Given the description of an element on the screen output the (x, y) to click on. 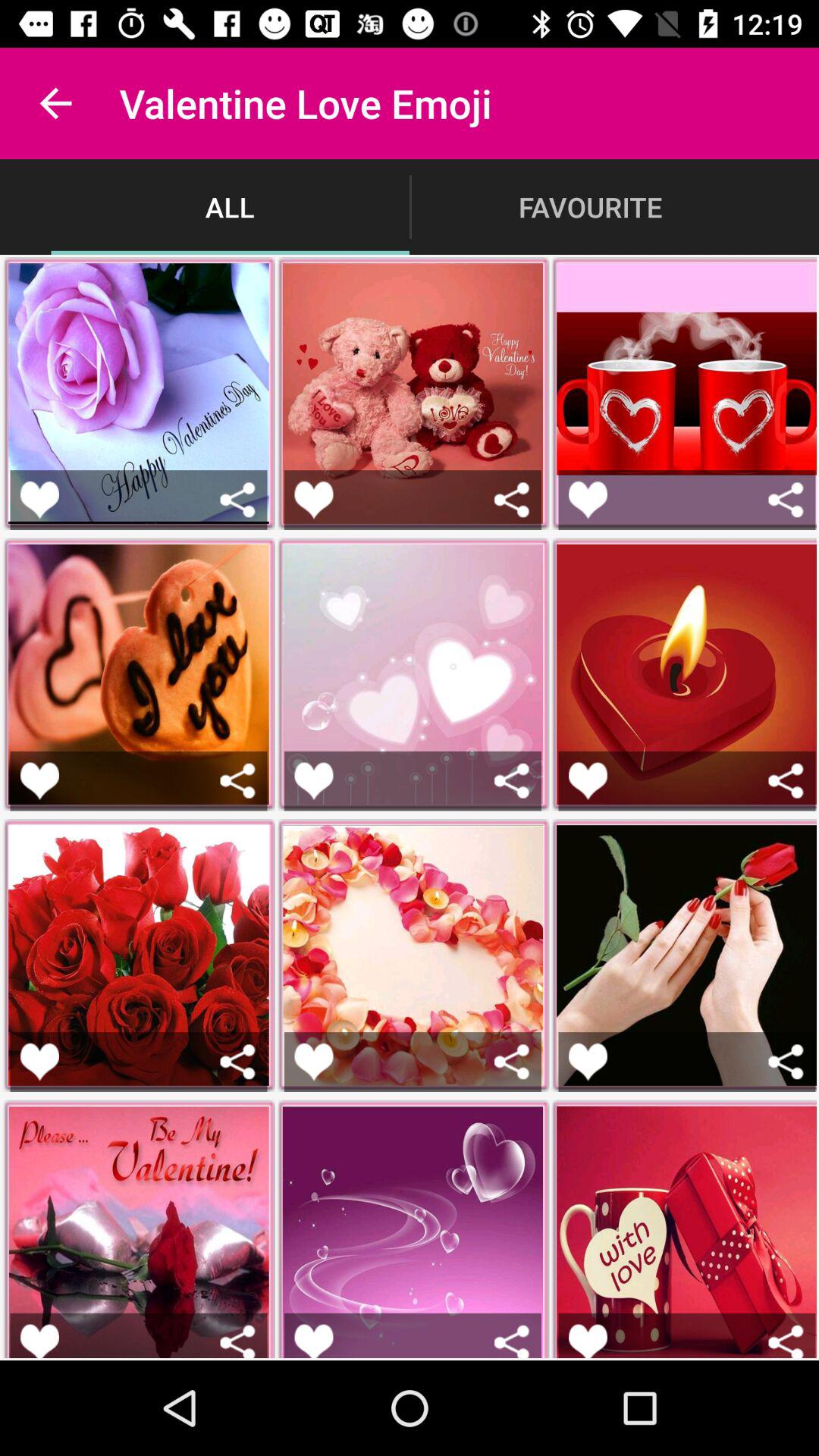
favorite the image (39, 1061)
